Given the description of an element on the screen output the (x, y) to click on. 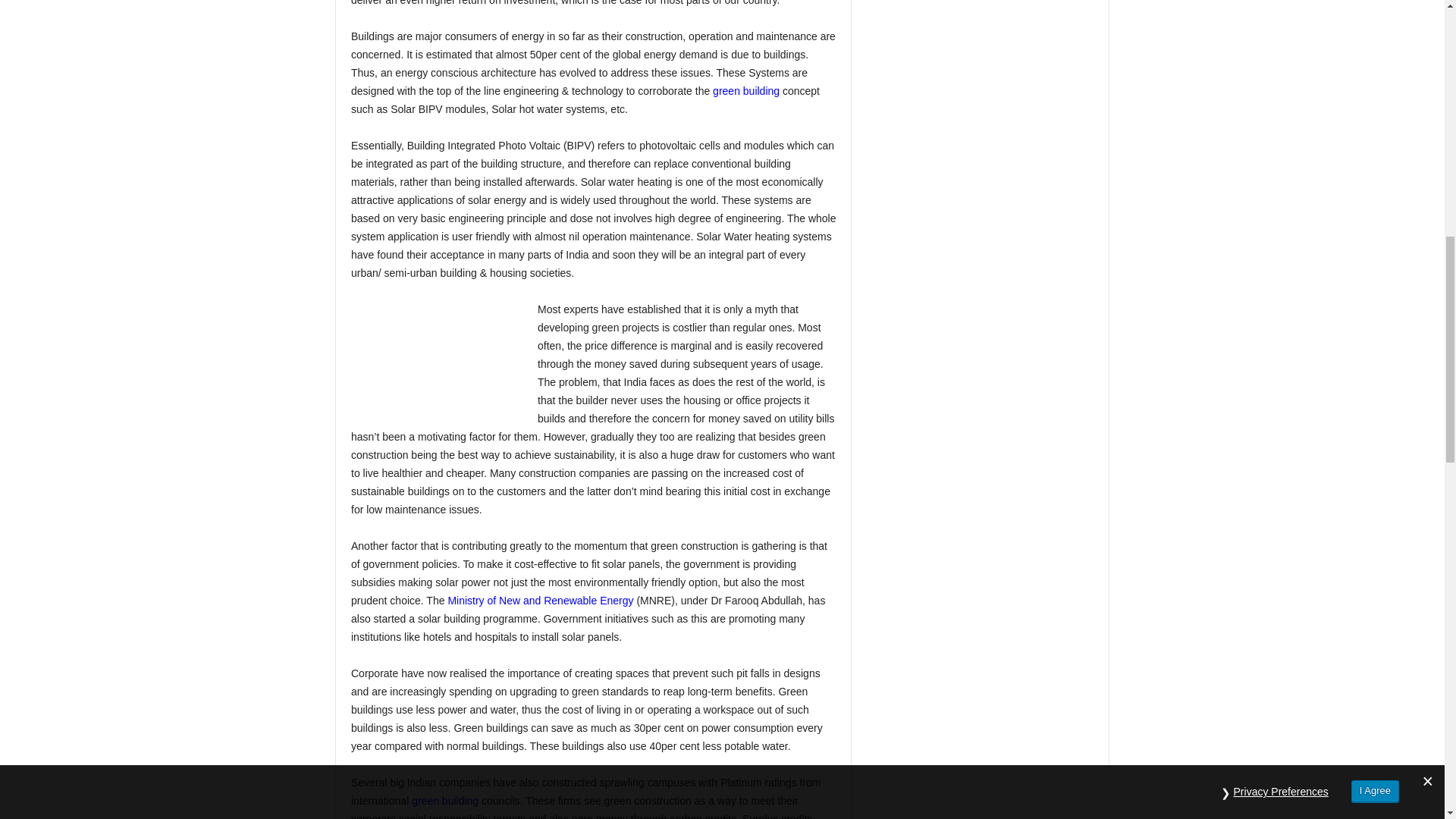
Ministry of New and Renewable Energy (539, 600)
green building (445, 800)
green building (745, 91)
